Given the description of an element on the screen output the (x, y) to click on. 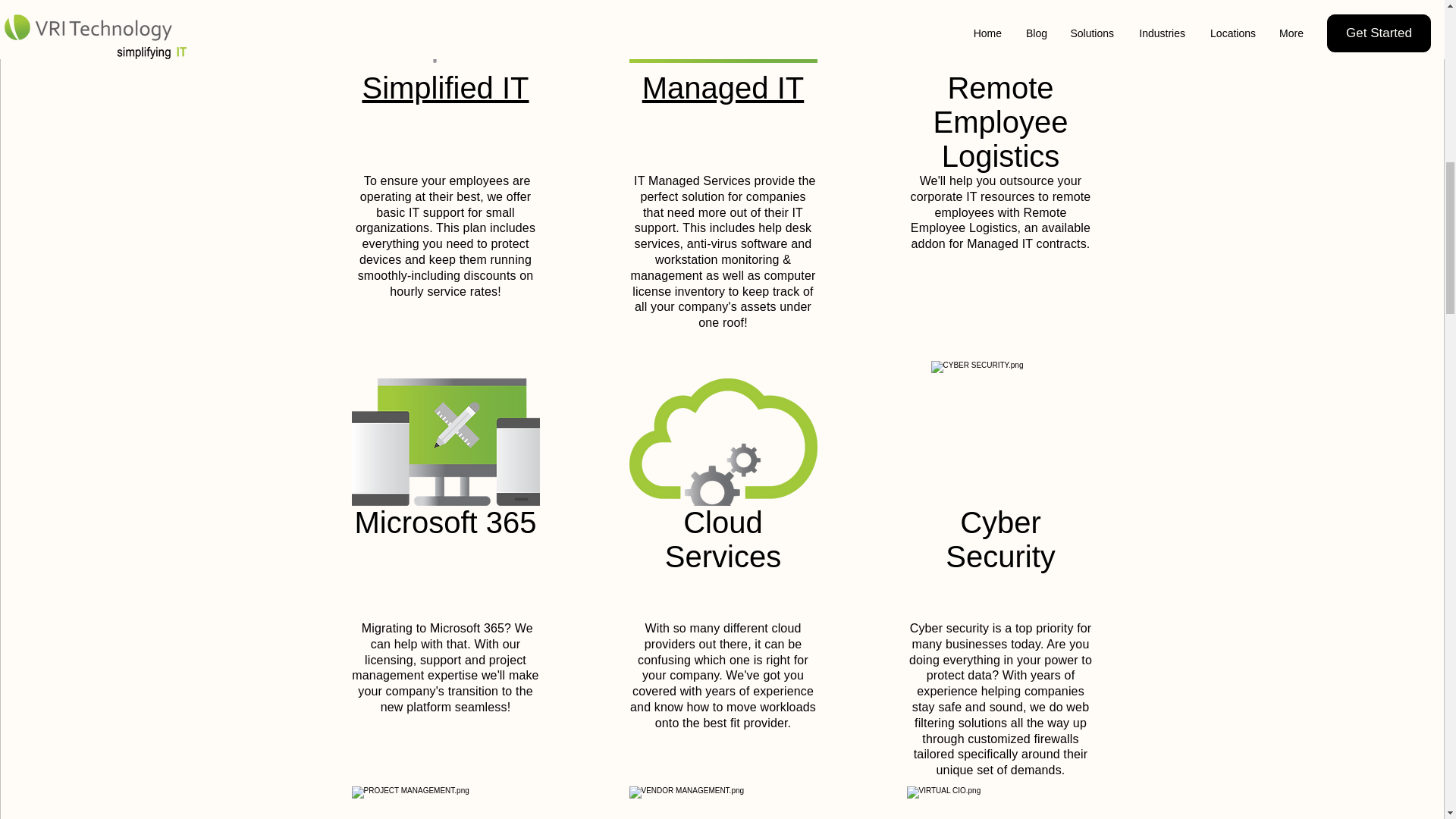
Simplified IT (444, 87)
Managed IT (722, 87)
